Given the description of an element on the screen output the (x, y) to click on. 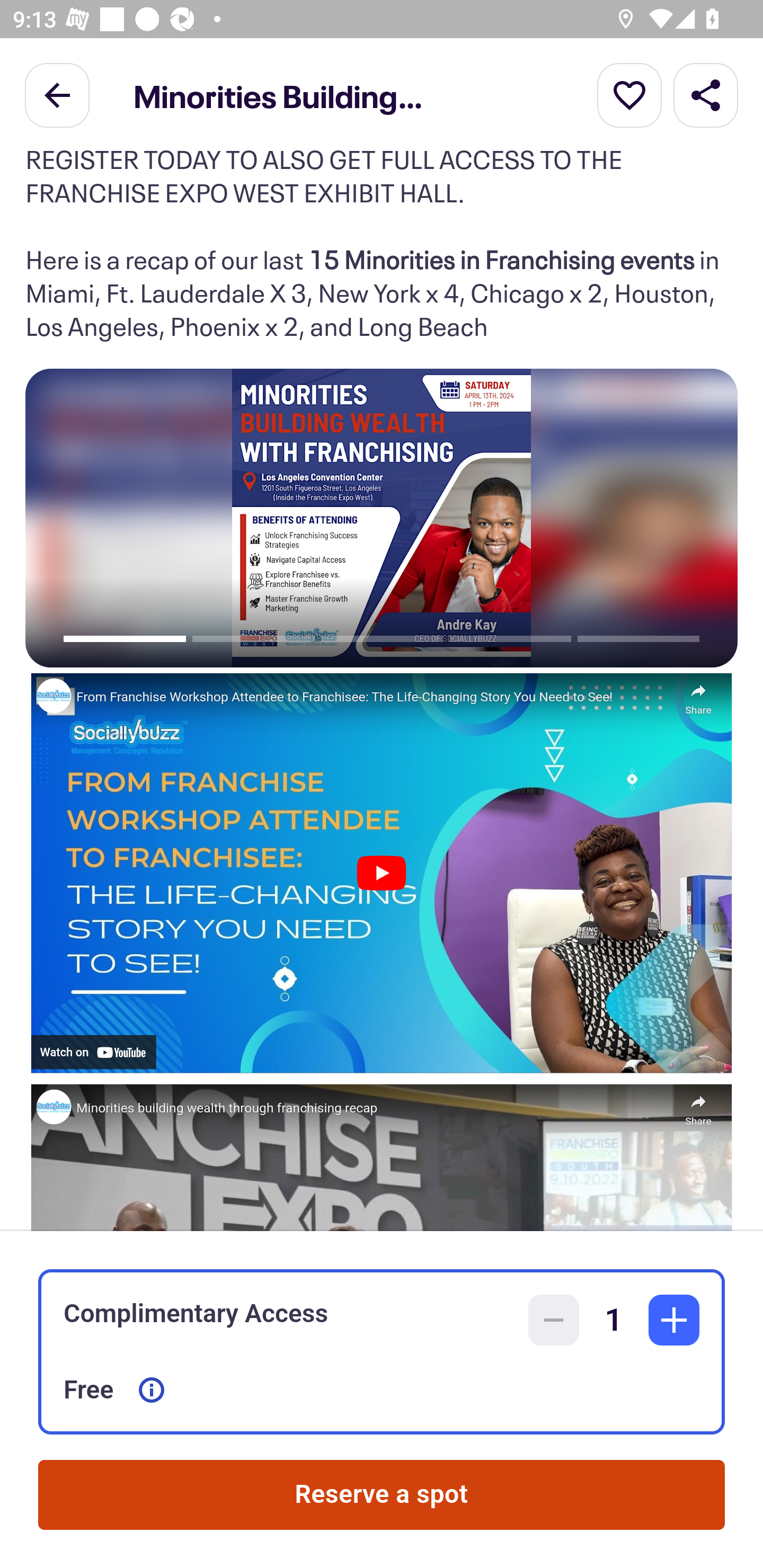
Back (57, 94)
More (629, 94)
Share (705, 94)
Share (697, 694)
Photo image of Sociallybuzz, Inc (52, 695)
Play (380, 873)
Watch on YouTube (93, 1051)
Share (697, 1105)
Photo image of Sociallybuzz, Inc (52, 1106)
Decrease (553, 1320)
Increase (673, 1320)
Show more information (151, 1389)
Reserve a spot (381, 1494)
